Given the description of an element on the screen output the (x, y) to click on. 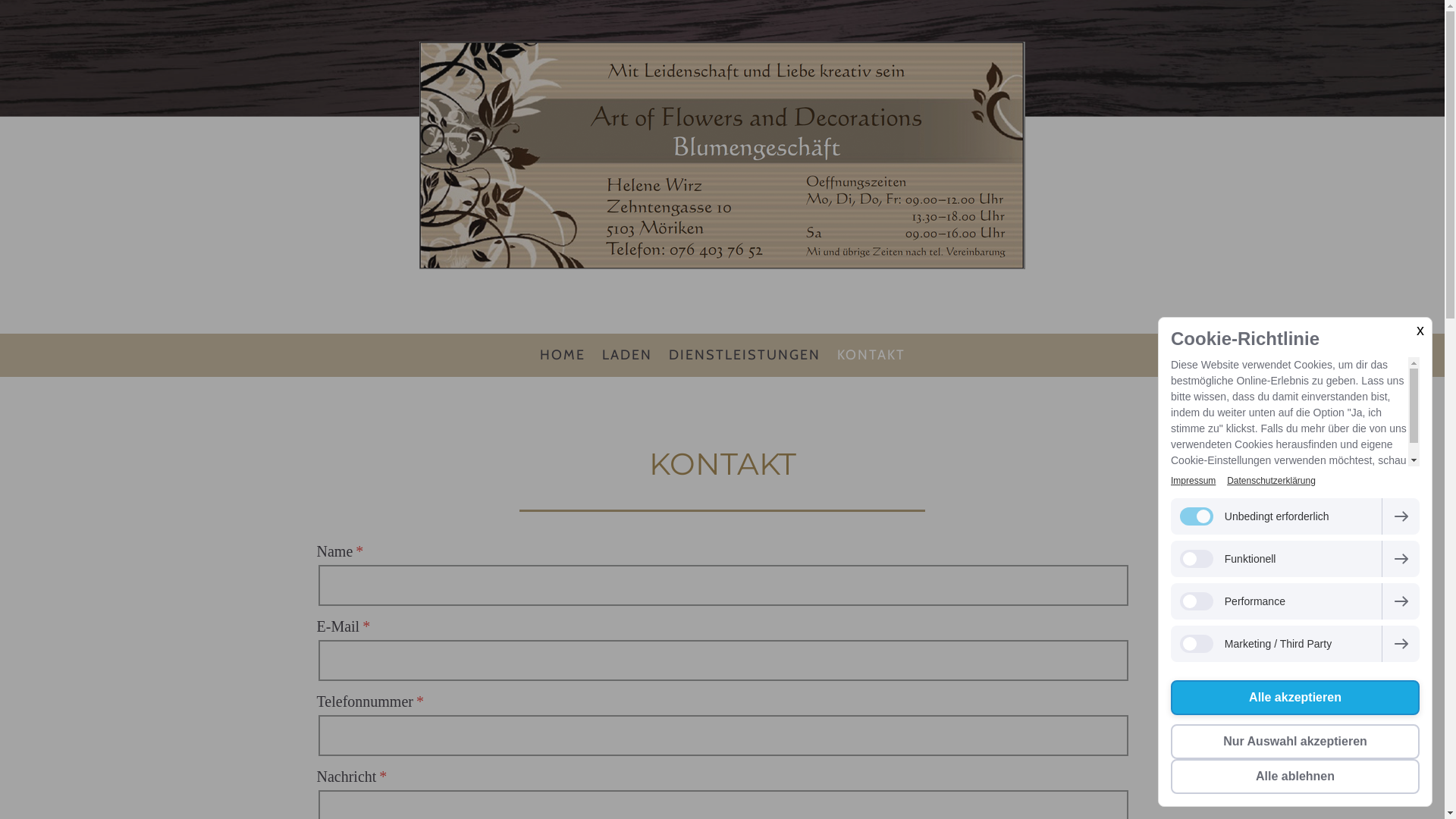
DIENSTLEISTUNGEN Element type: text (743, 355)
Nur Auswahl akzeptieren Element type: text (1294, 741)
Alle akzeptieren Element type: text (1294, 697)
LADEN Element type: text (626, 355)
HOME Element type: text (561, 355)
KONTAKT Element type: text (870, 355)
Alle ablehnen Element type: text (1294, 776)
Impressum Element type: text (1192, 480)
